Given the description of an element on the screen output the (x, y) to click on. 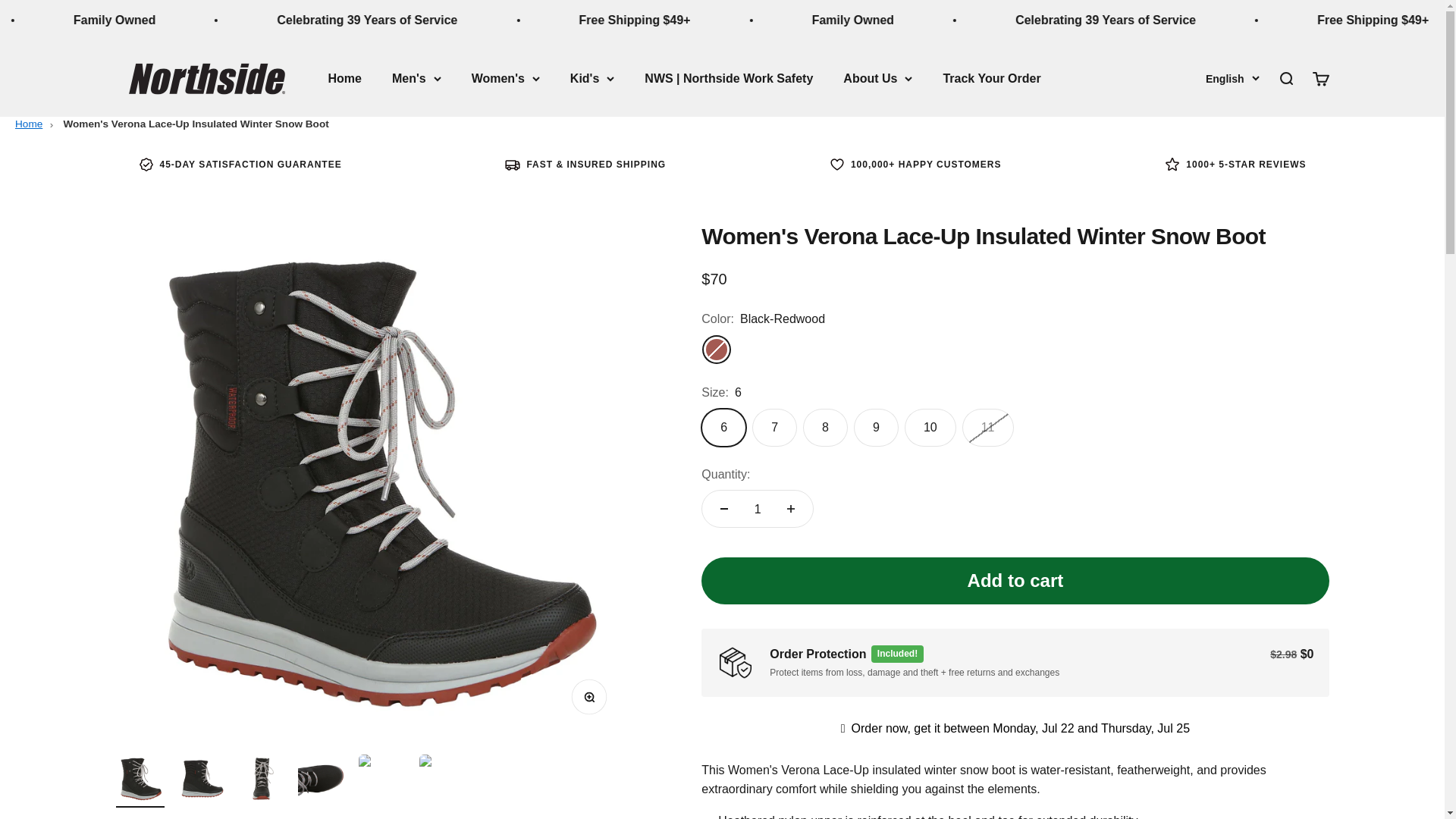
Open search (1285, 77)
Home (28, 123)
English (1232, 77)
6 (1319, 77)
1 (195, 123)
Track Your Order (756, 508)
Home (991, 78)
8 (344, 78)
